Given the description of an element on the screen output the (x, y) to click on. 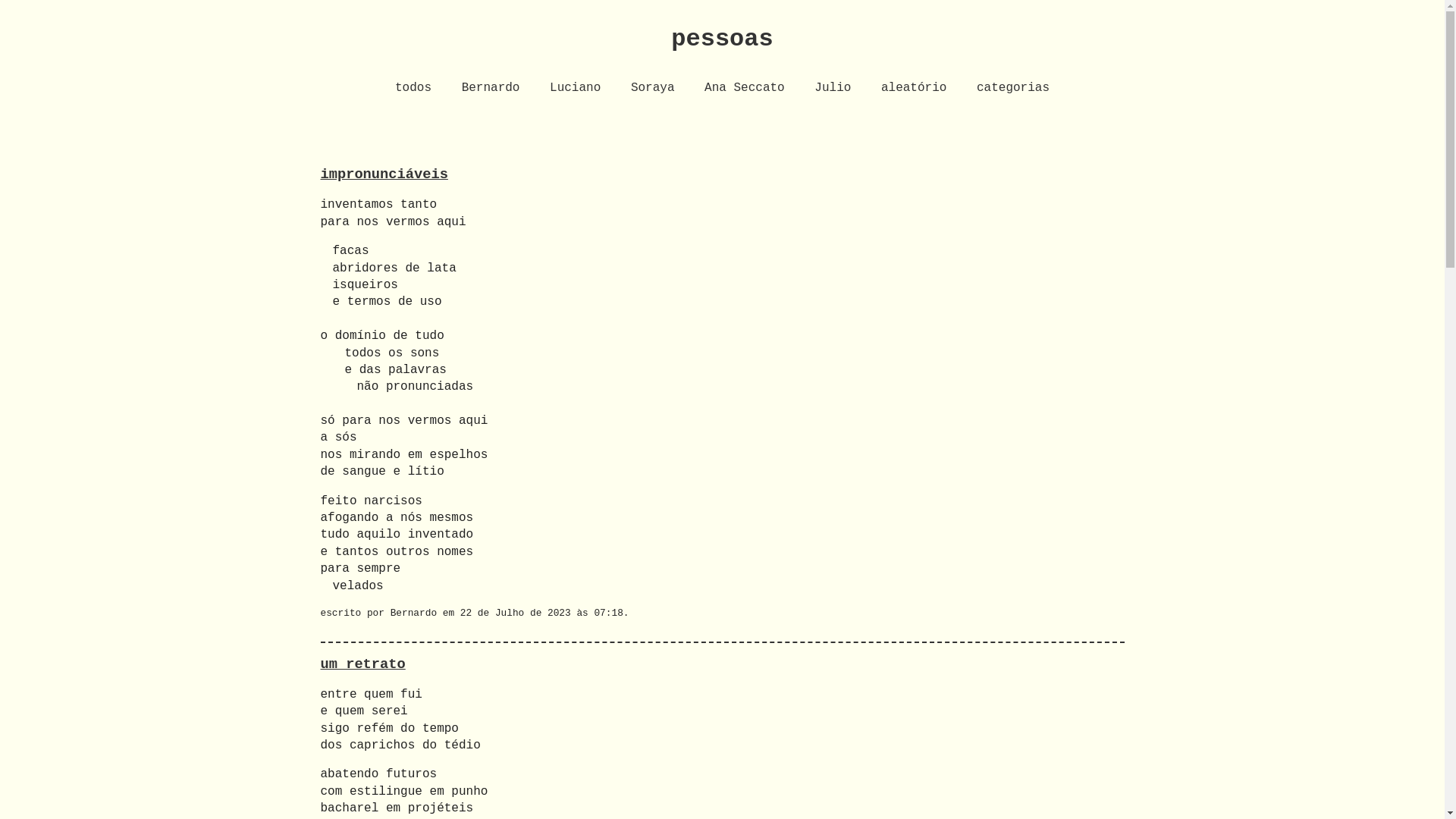
Bernardo Element type: text (490, 87)
Soraya Element type: text (652, 87)
categorias Element type: text (1012, 87)
Luciano Element type: text (574, 87)
Julio Element type: text (832, 87)
Ana Seccato Element type: text (744, 87)
todos Element type: text (413, 87)
pessoas Element type: text (721, 39)
um retrato Element type: text (362, 663)
